Given the description of an element on the screen output the (x, y) to click on. 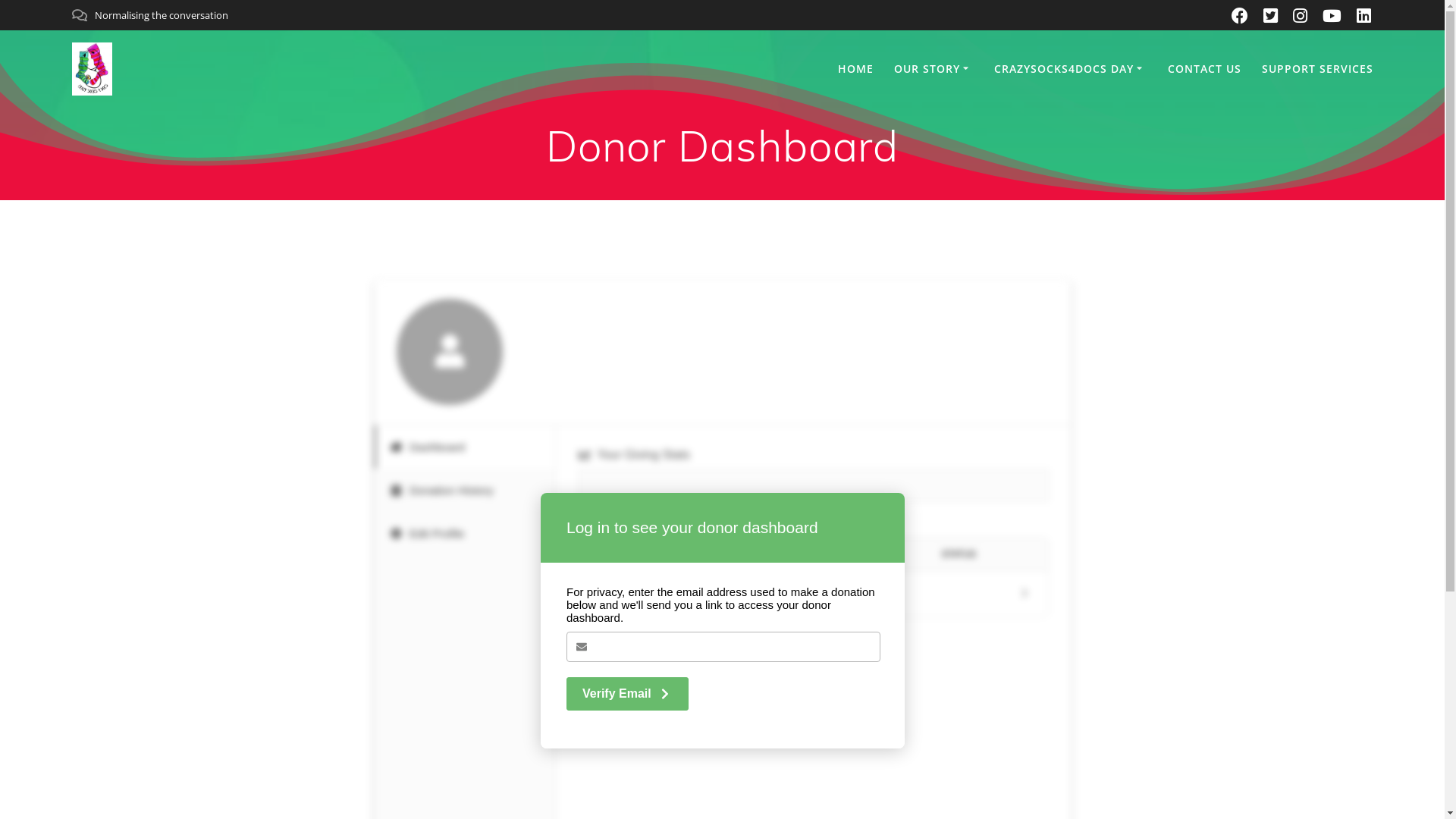
SUPPORT SERVICES Element type: text (1317, 68)
HOME Element type: text (855, 68)
CONTACT US Element type: text (1204, 68)
CRAZYSOCKS4DOCS DAY Element type: text (1070, 68)
OUR STORY Element type: text (933, 68)
